Given the description of an element on the screen output the (x, y) to click on. 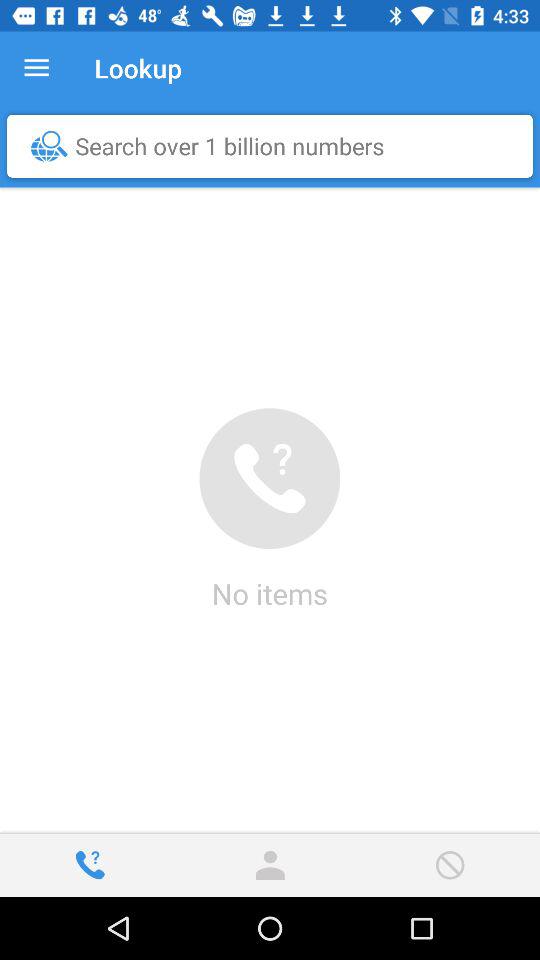
jump until search over 1 icon (275, 146)
